Given the description of an element on the screen output the (x, y) to click on. 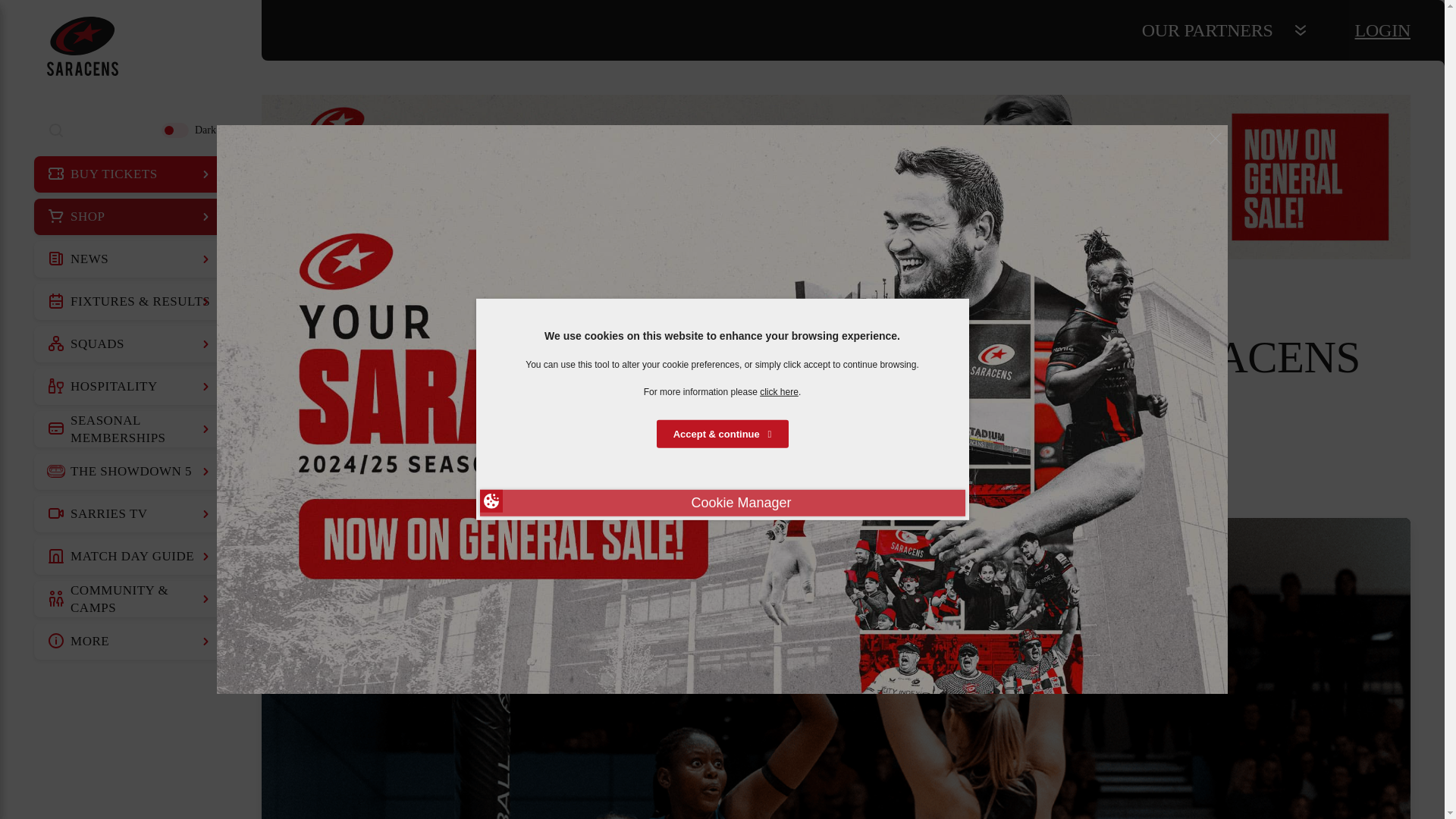
MORE (130, 641)
SQUADS (130, 343)
Cookie Manager (721, 502)
BUY TICKETS (130, 174)
LOGIN (1382, 29)
Search (55, 130)
SEASONAL MEMBERSHIPS (130, 429)
HOSPITALITY (130, 386)
THE SHOWDOWN 5 (130, 471)
NEWS (130, 258)
SHOP (130, 217)
MATCH DAY GUIDE (130, 556)
SARRIES TV (130, 514)
